Given the description of an element on the screen output the (x, y) to click on. 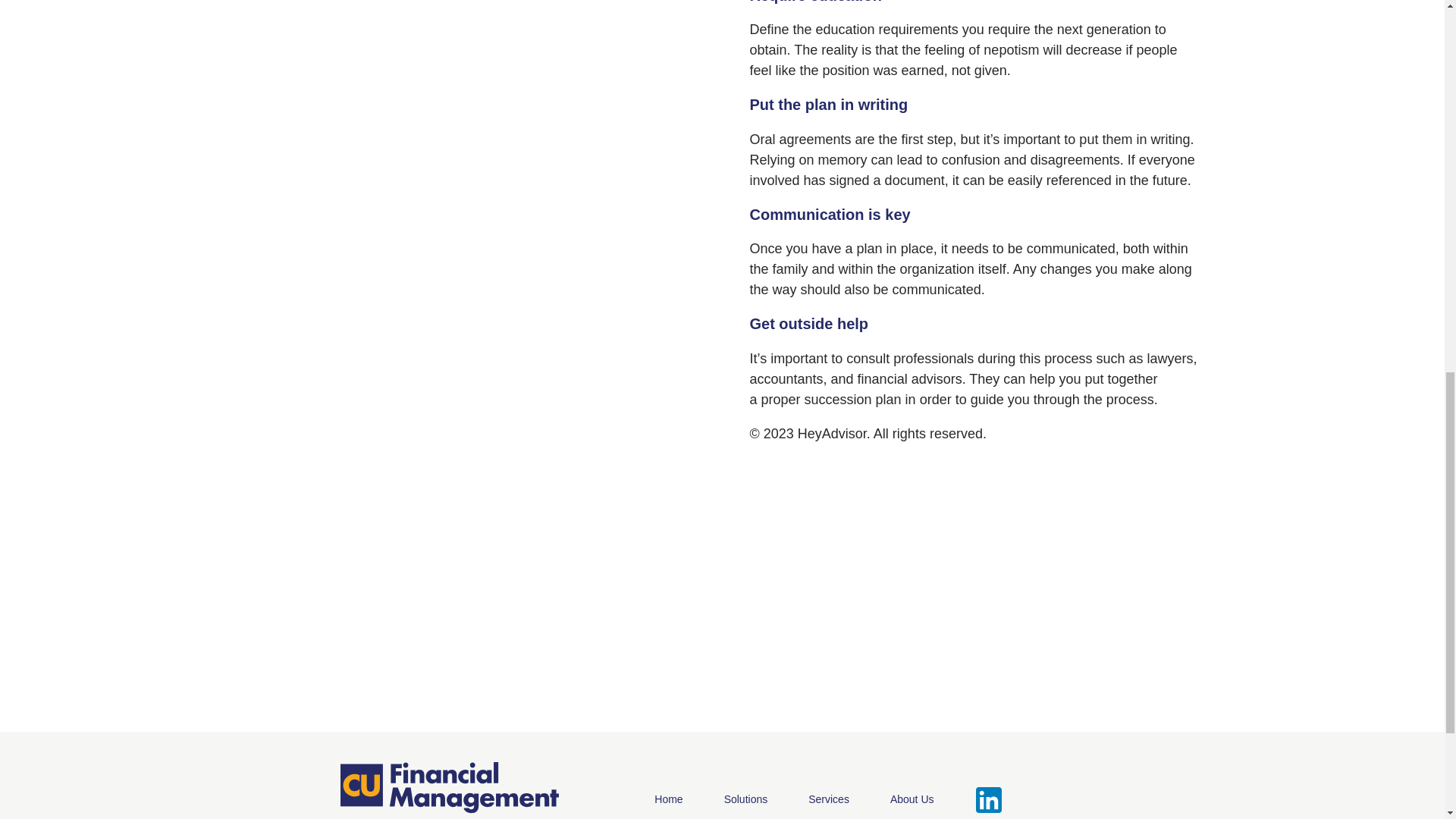
Solutions (745, 799)
Services (828, 799)
LinkedIn (988, 800)
Home (667, 799)
Home (448, 787)
About Us (911, 799)
